Given the description of an element on the screen output the (x, y) to click on. 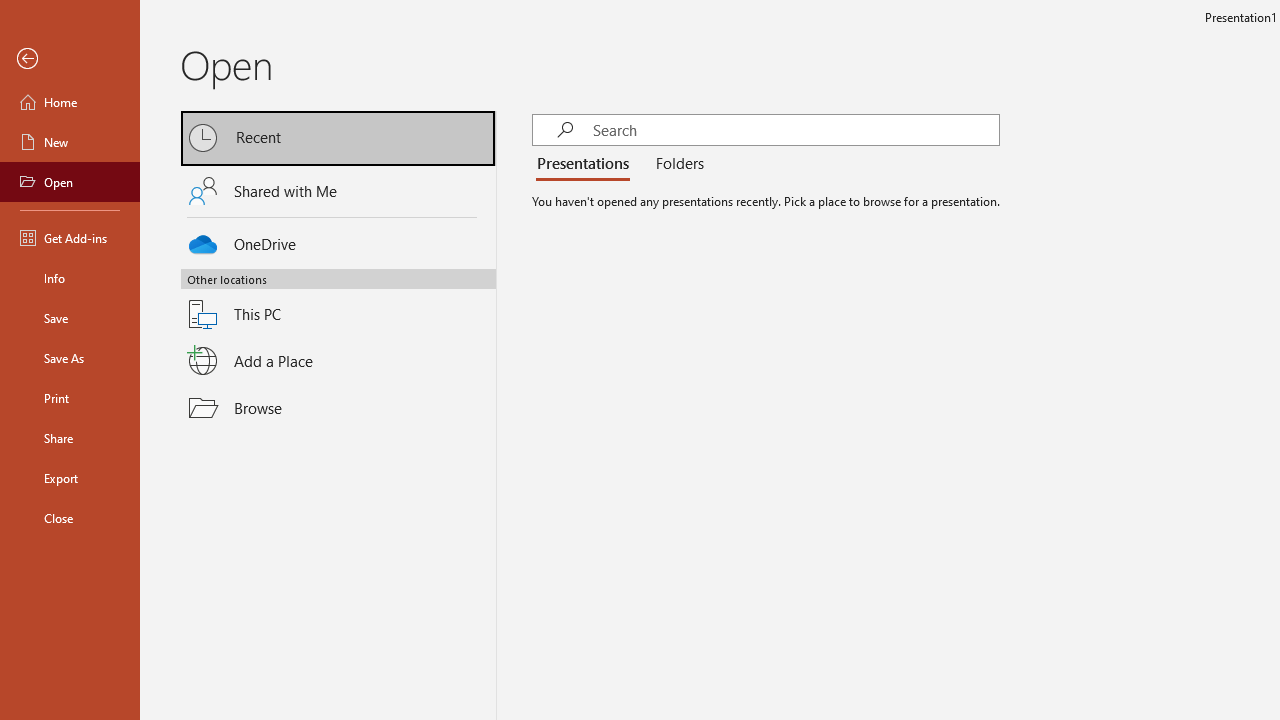
New (69, 141)
Get Add-ins (69, 237)
This PC (338, 302)
Shared with Me (338, 191)
Folders (676, 164)
Back (69, 59)
Browse (338, 407)
Info (69, 277)
Presentations (587, 164)
Add a Place (338, 361)
OneDrive (338, 240)
